Given the description of an element on the screen output the (x, y) to click on. 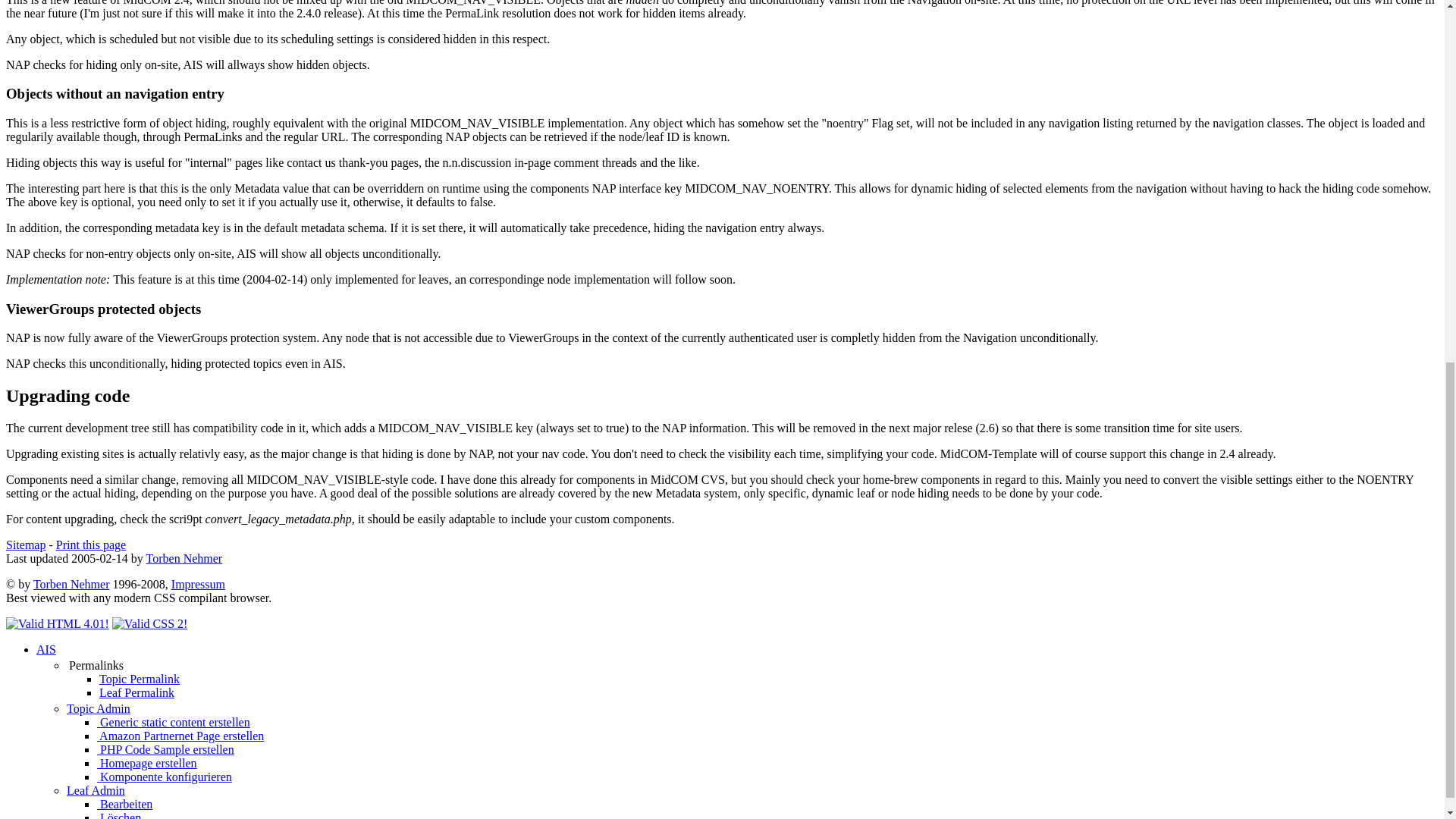
Amazon Partnernet Page erstellen (180, 735)
Leaf Permalink (136, 692)
Print this page (90, 544)
Torben Nehmer (184, 558)
Topic Permalink (139, 678)
Sitemap (25, 544)
Topic Admin (98, 707)
Torben Nehmer (71, 584)
PHP Code Sample erstellen (165, 748)
Generic static content erstellen (173, 721)
Impressum (198, 584)
AIS (46, 649)
